Given the description of an element on the screen output the (x, y) to click on. 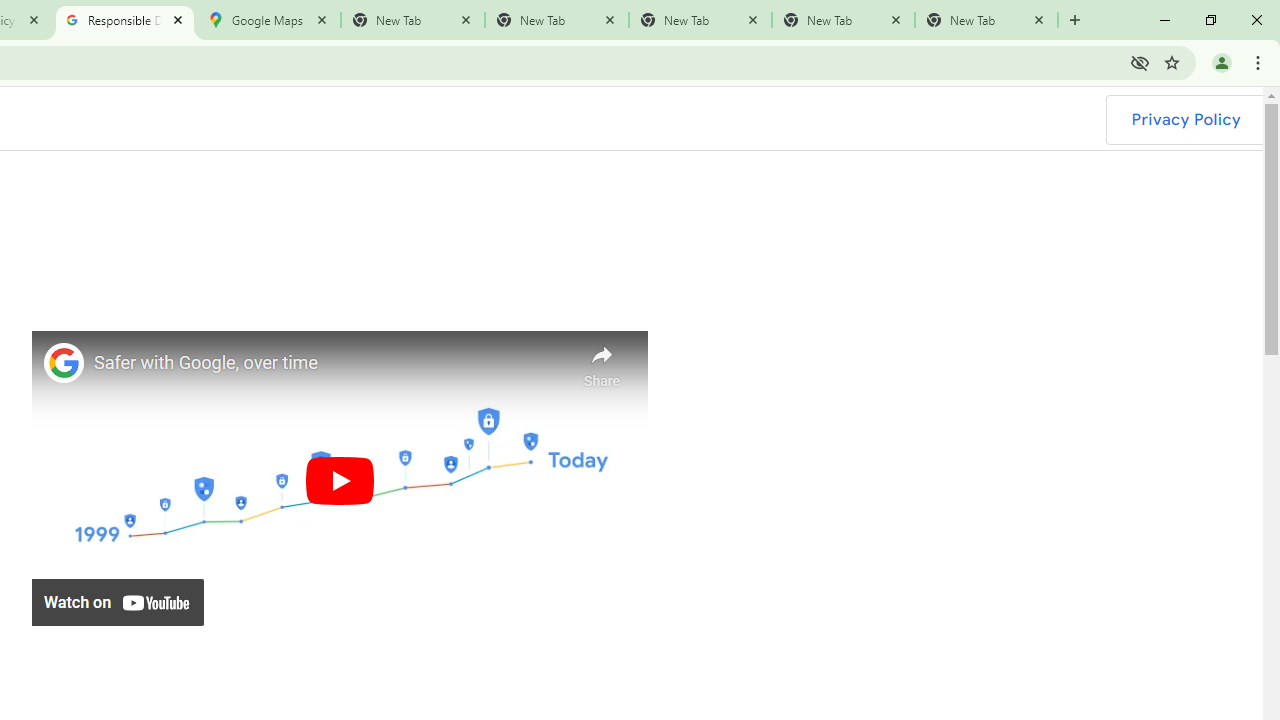
Third-party cookies blocked (1139, 62)
Google Maps (268, 20)
Photo image of Google (63, 362)
